Given the description of an element on the screen output the (x, y) to click on. 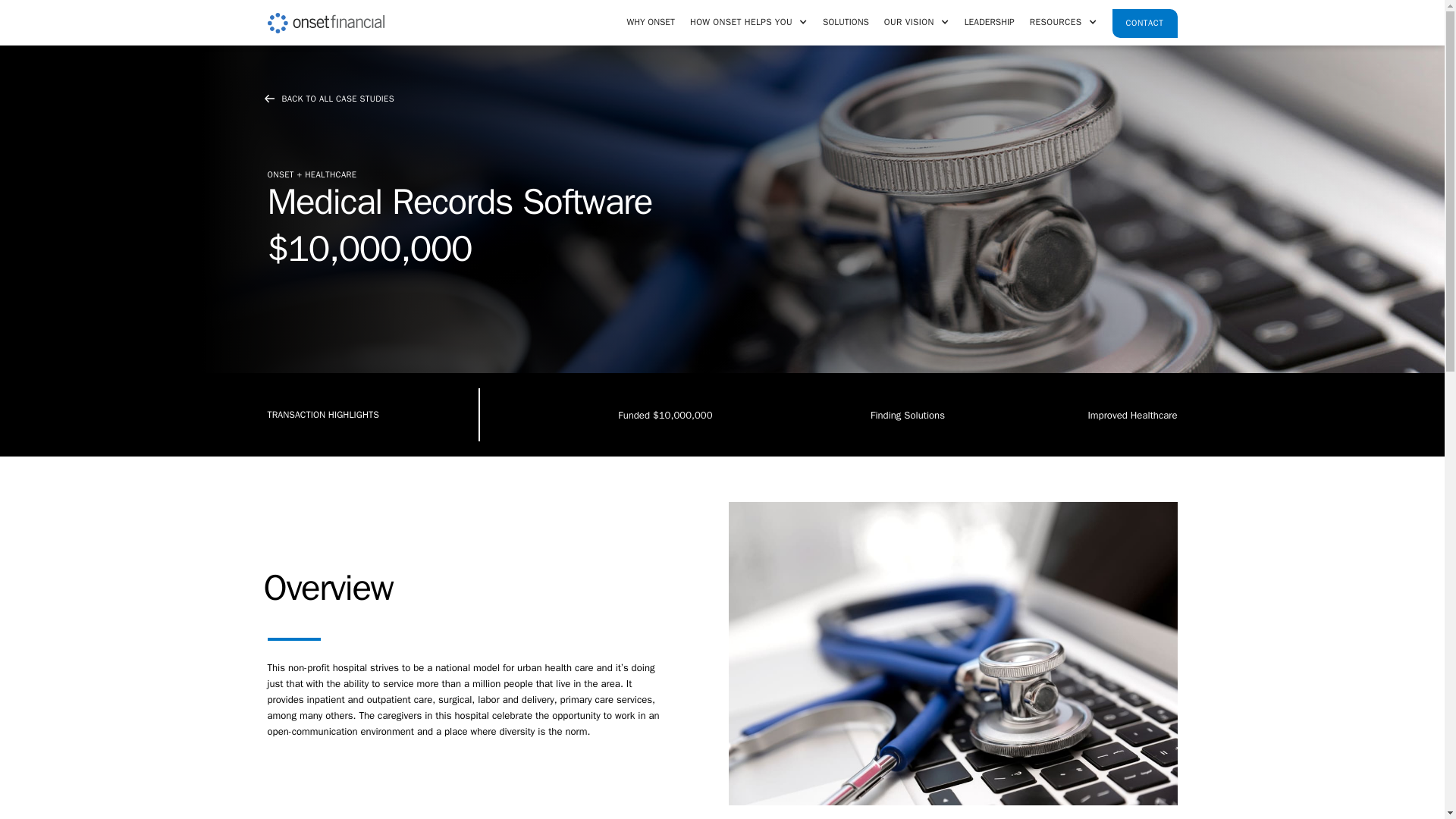
WHY ONSET (649, 22)
CONTACT (1144, 23)
LEADERSHIP (989, 22)
SOLUTIONS (845, 22)
BACK TO ALL CASE STUDIES (328, 98)
